Given the description of an element on the screen output the (x, y) to click on. 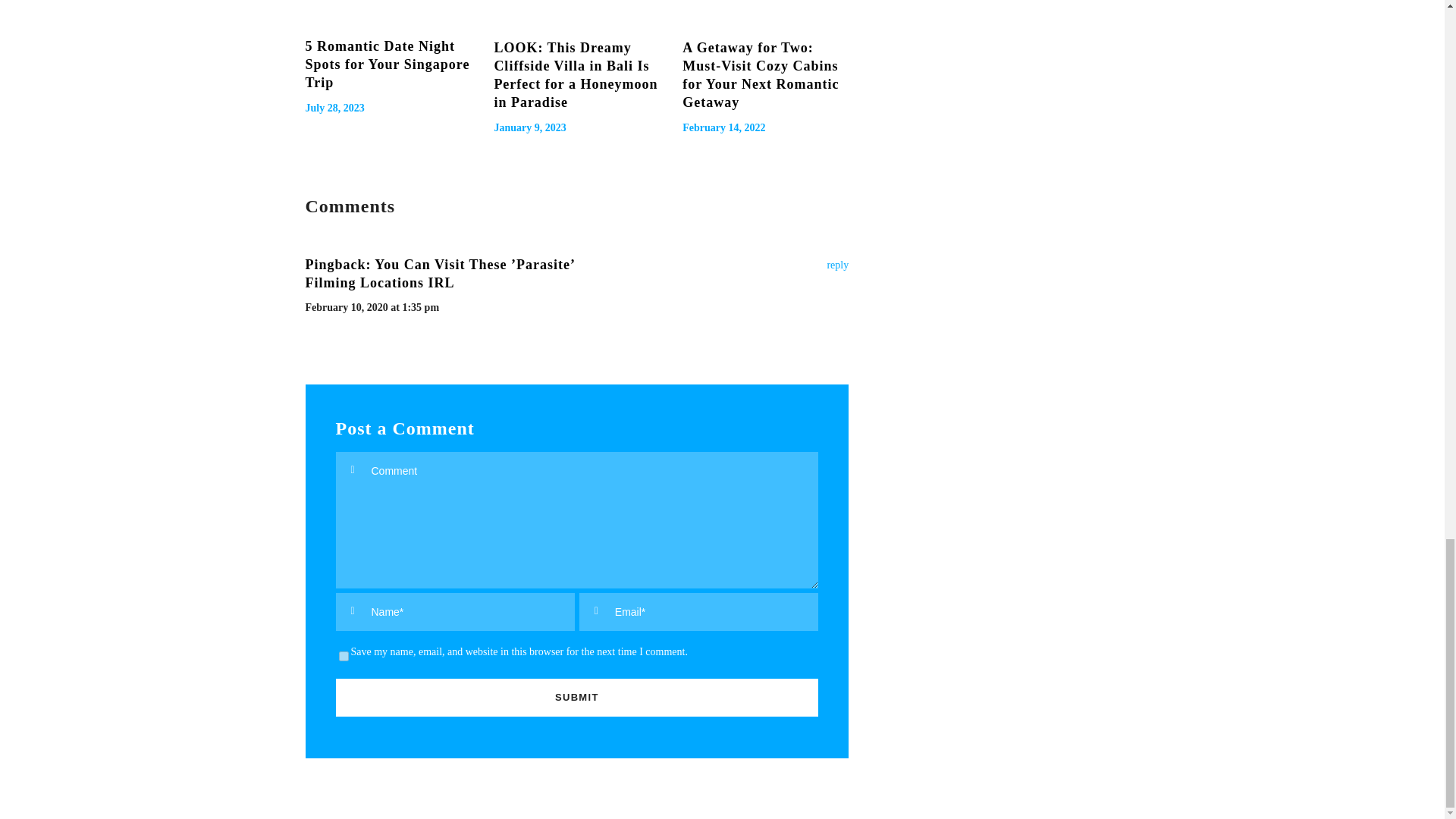
5 Romantic Date Night Spots for Your Singapore Trip (387, 7)
5 Romantic Date Night Spots for Your Singapore Trip (386, 64)
yes (342, 655)
Submit (576, 697)
